Given the description of an element on the screen output the (x, y) to click on. 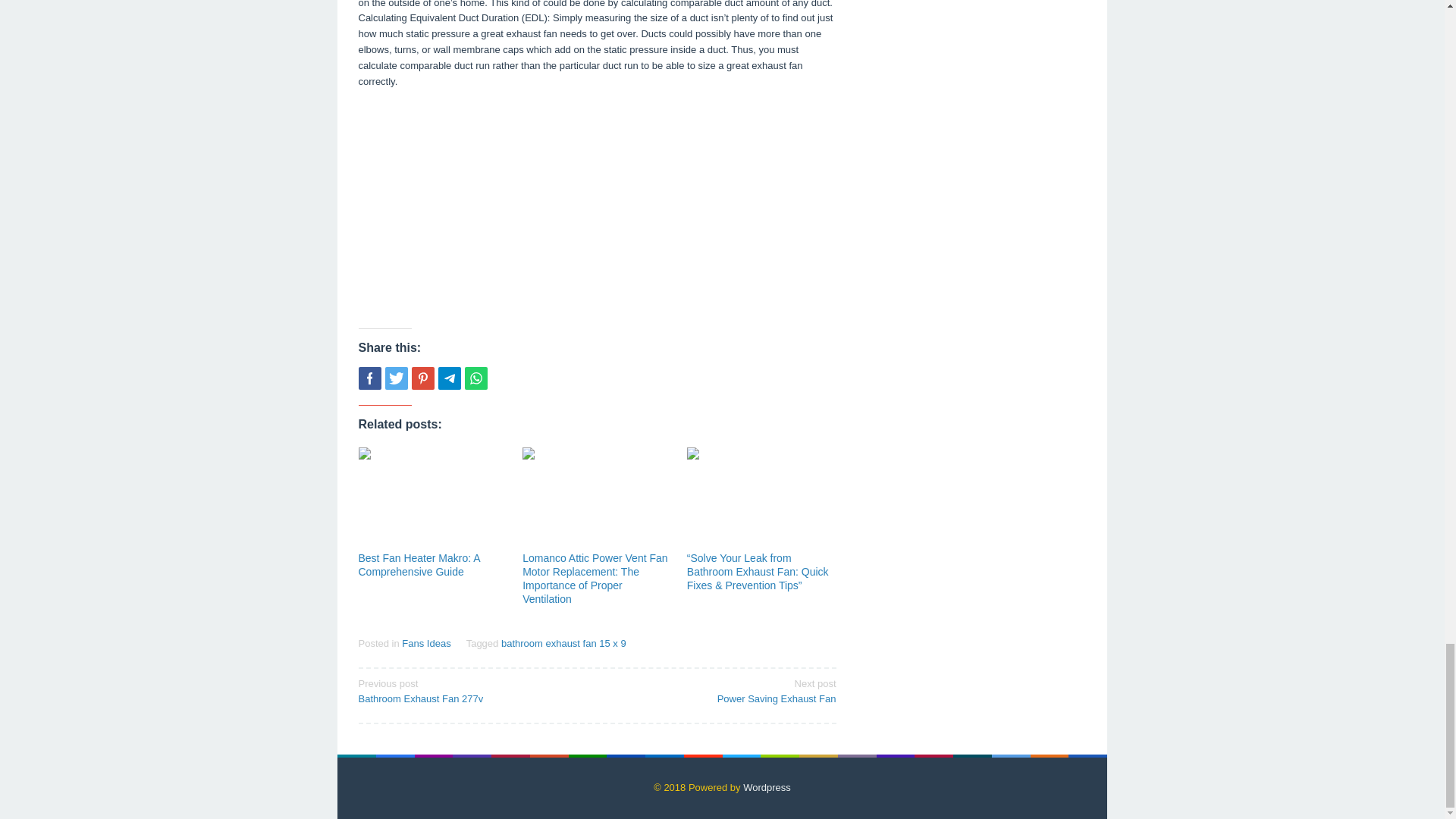
Pin this (421, 377)
Fans Ideas (472, 690)
Whatsapp (721, 690)
Permalink to: Best Fan Heater Makro: A Comprehensive Guide (425, 643)
Telegram Share (475, 377)
bathroom exhaust fan 15 x 9 (432, 497)
Best Fan Heater Makro: A Comprehensive Guide (449, 377)
Tweet this (563, 643)
Permalink to: Best Fan Heater Makro: A Comprehensive Guide (418, 565)
Share this (396, 377)
